Given the description of an element on the screen output the (x, y) to click on. 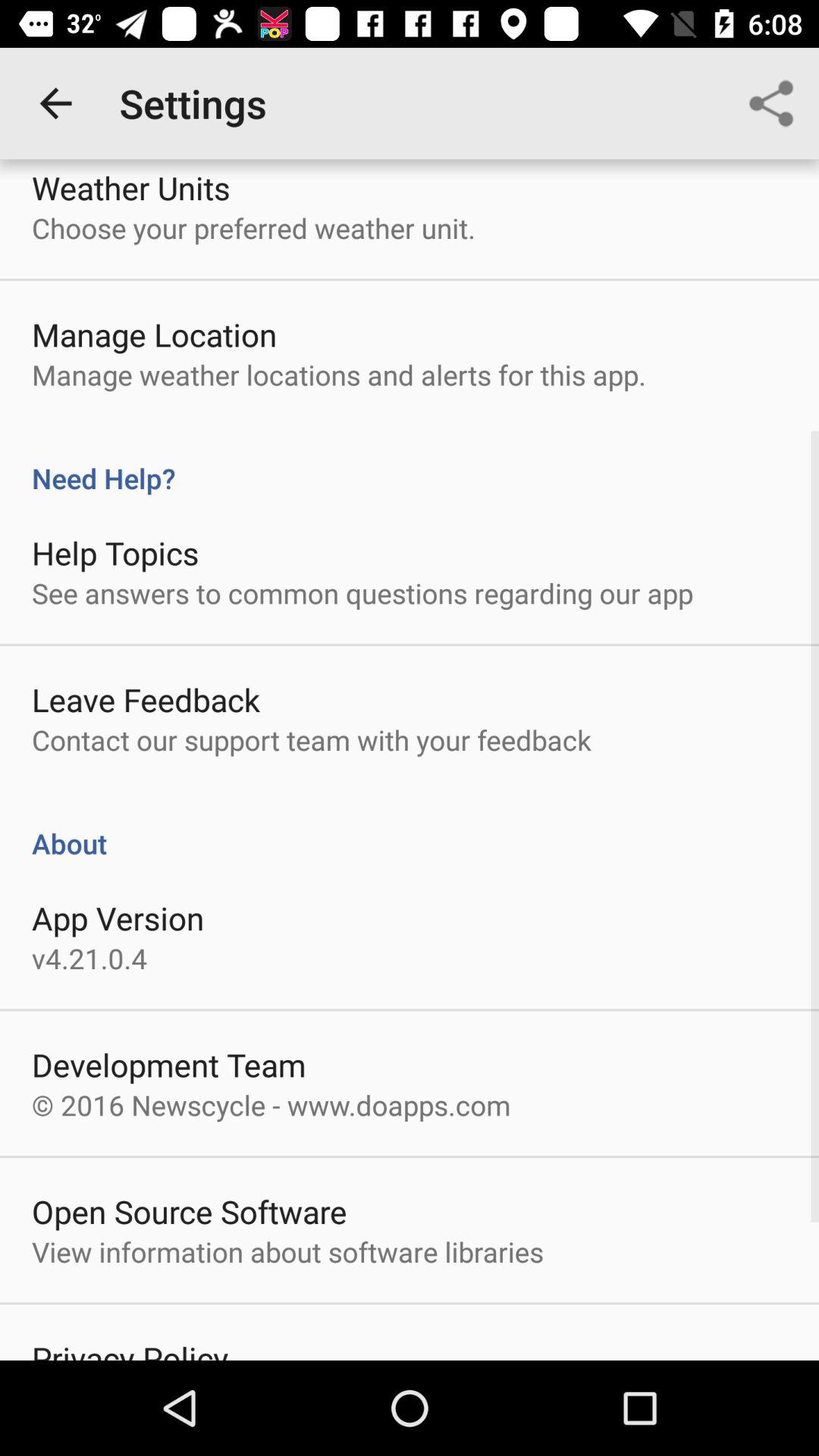
press the icon below the view information about (129, 1348)
